Given the description of an element on the screen output the (x, y) to click on. 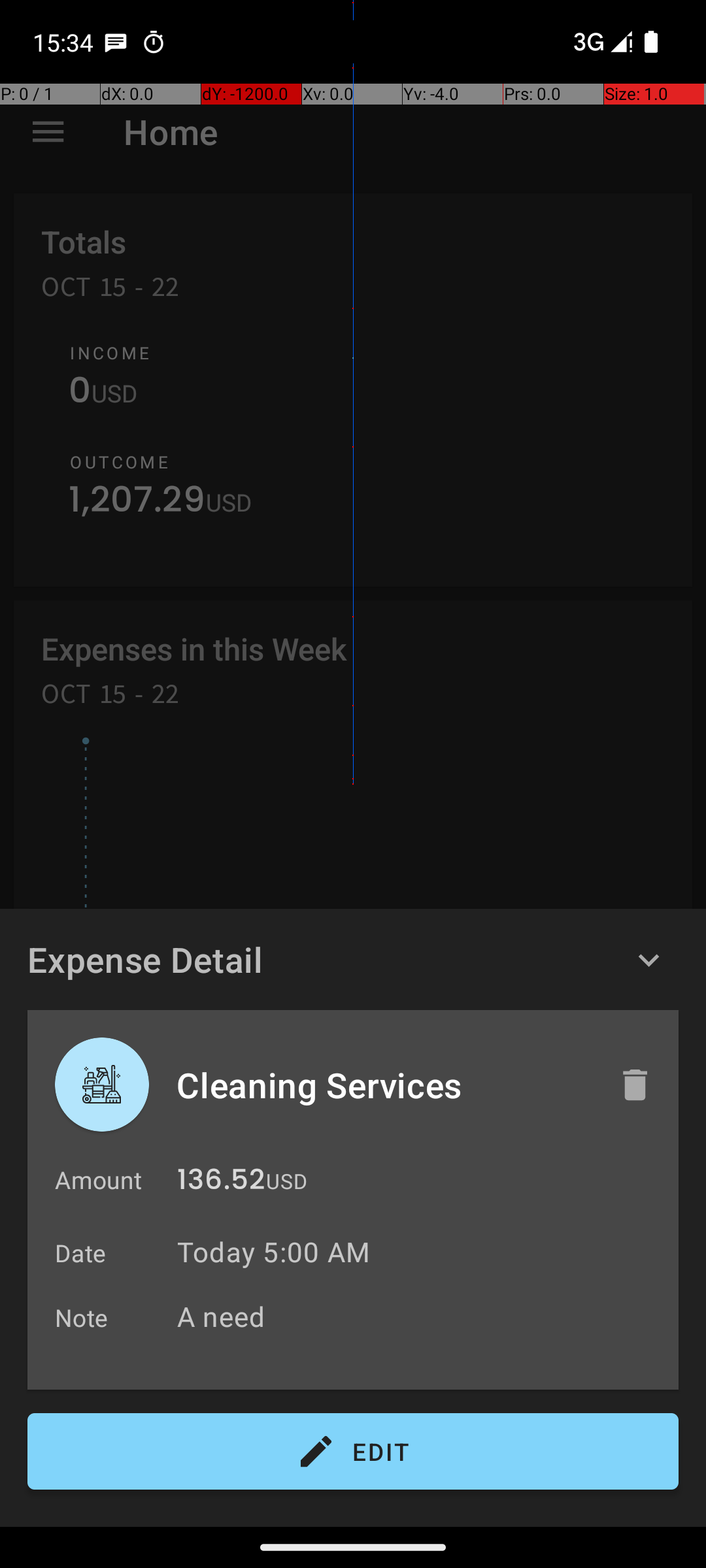
136.52 Element type: android.widget.TextView (220, 1182)
